Given the description of an element on the screen output the (x, y) to click on. 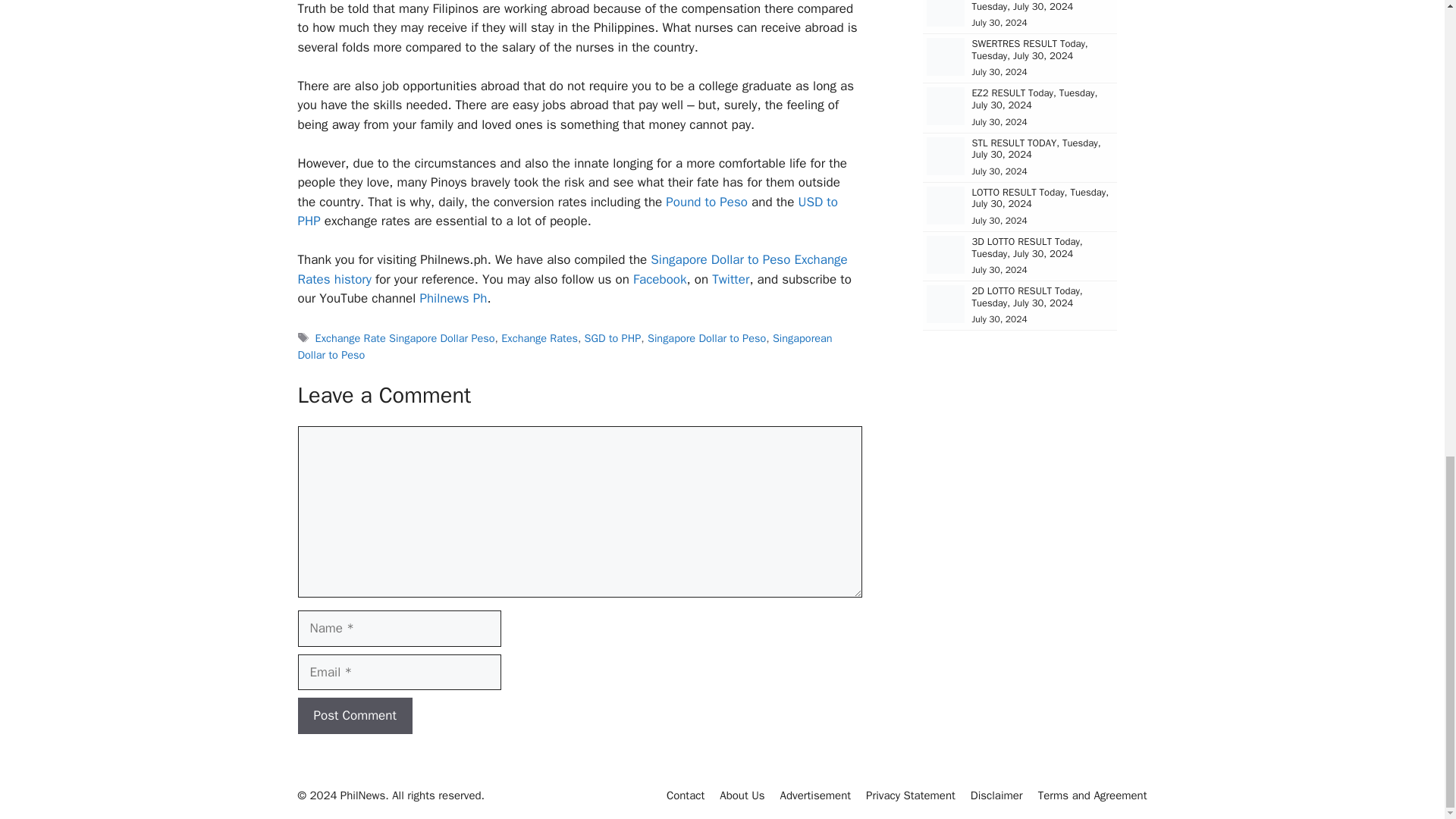
Post Comment (354, 715)
